Given the description of an element on the screen output the (x, y) to click on. 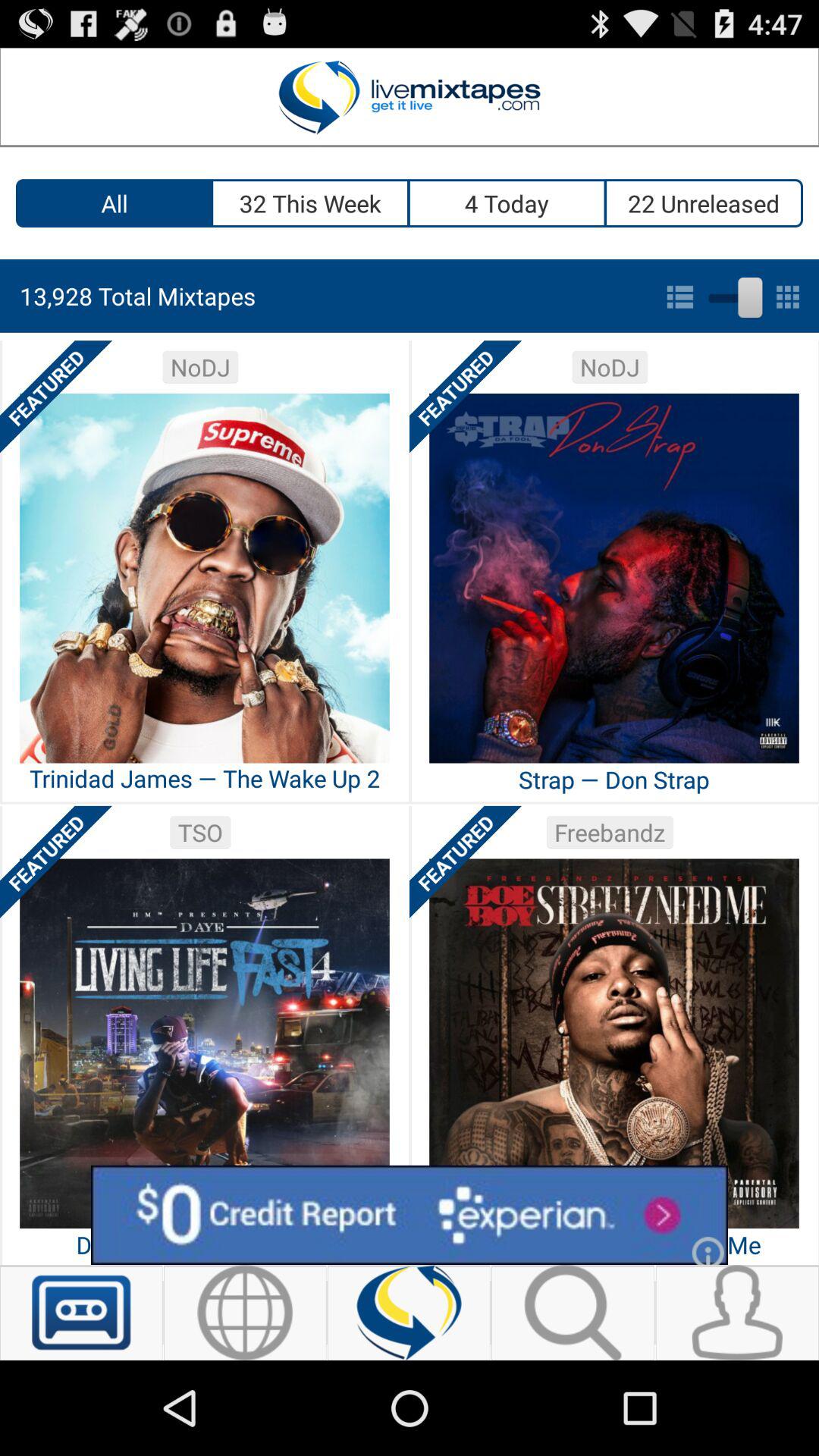
turn off the 32 this week item (310, 203)
